Given the description of an element on the screen output the (x, y) to click on. 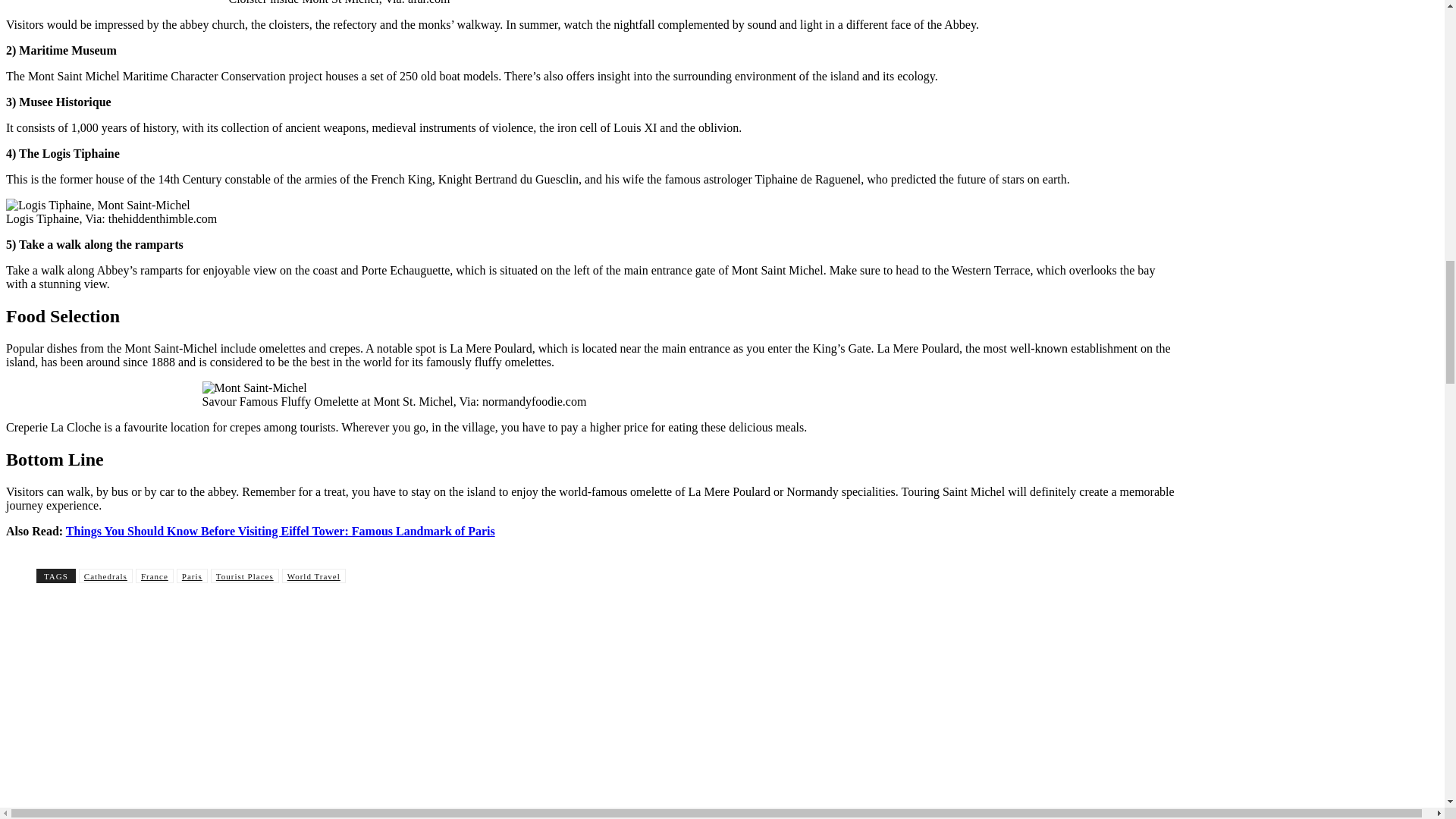
Tourist Places (245, 575)
Cathedrals (105, 575)
Paris (192, 575)
France (154, 575)
World Travel (314, 575)
